Given the description of an element on the screen output the (x, y) to click on. 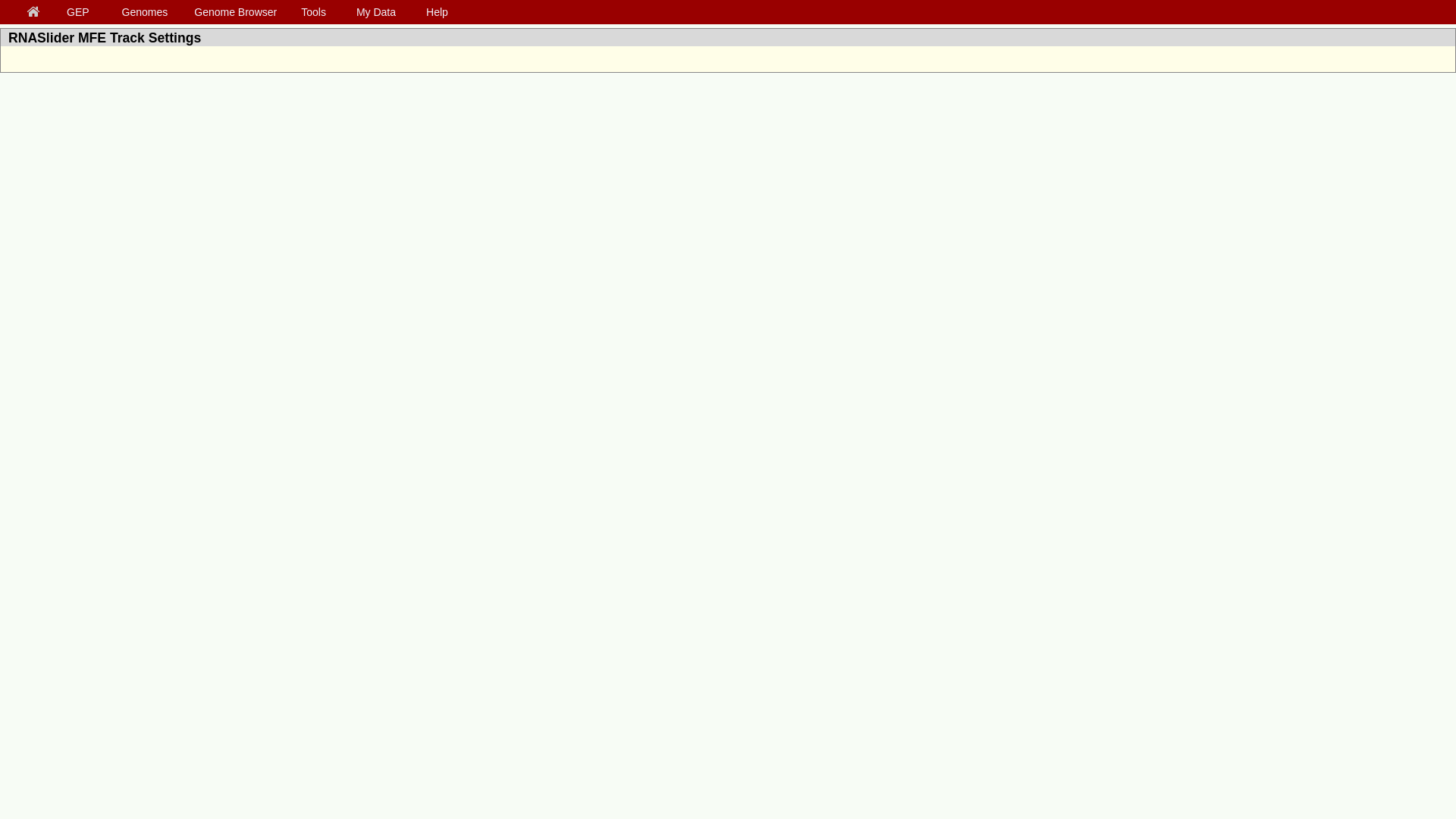
Genome Browser (237, 11)
Genomes (147, 11)
Home (36, 12)
